Given the description of an element on the screen output the (x, y) to click on. 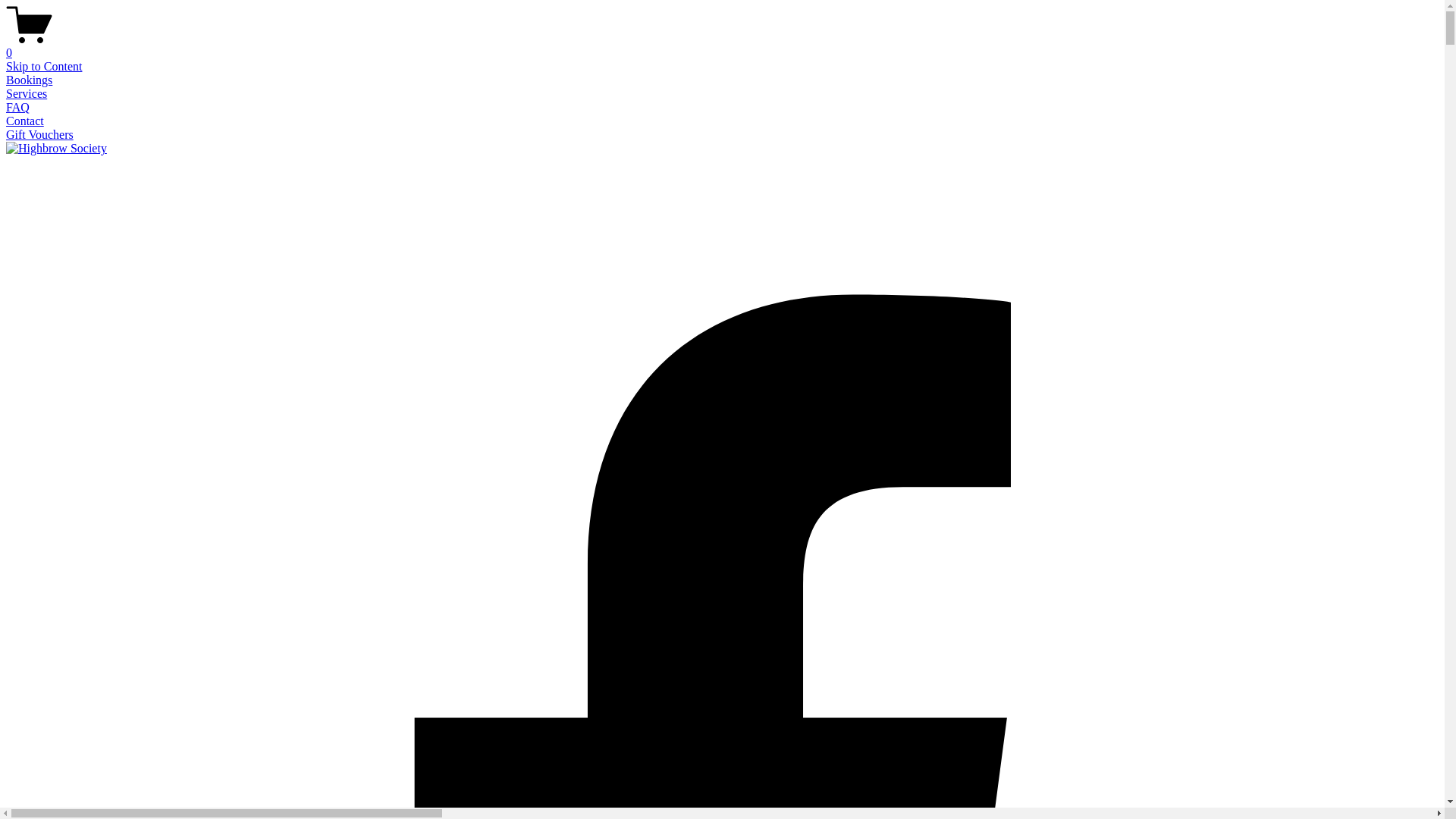
0 Element type: text (722, 45)
Bookings Element type: text (29, 79)
Skip to Content Element type: text (43, 65)
Services Element type: text (26, 93)
Contact Element type: text (24, 120)
FAQ Element type: text (17, 106)
Gift Vouchers Element type: text (39, 134)
